Given the description of an element on the screen output the (x, y) to click on. 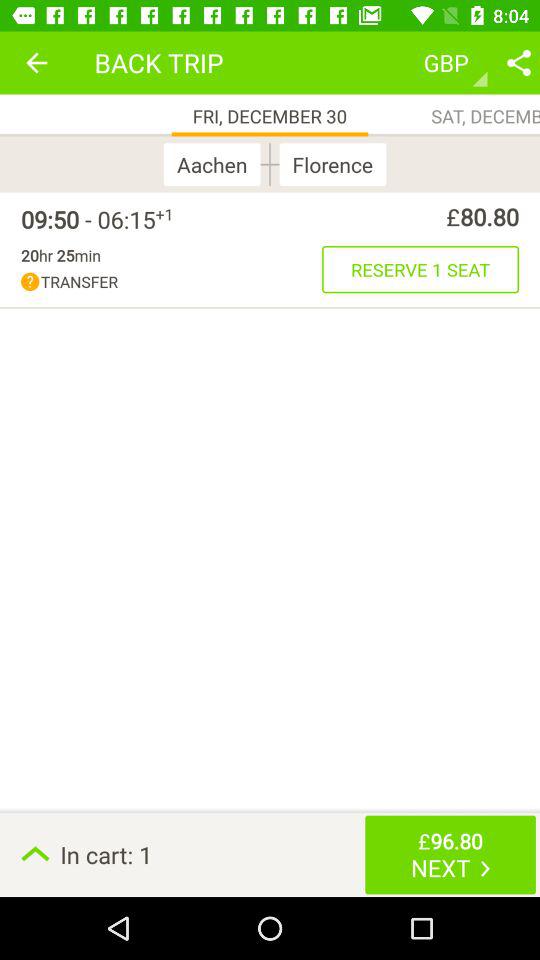
share page with others (519, 62)
